Given the description of an element on the screen output the (x, y) to click on. 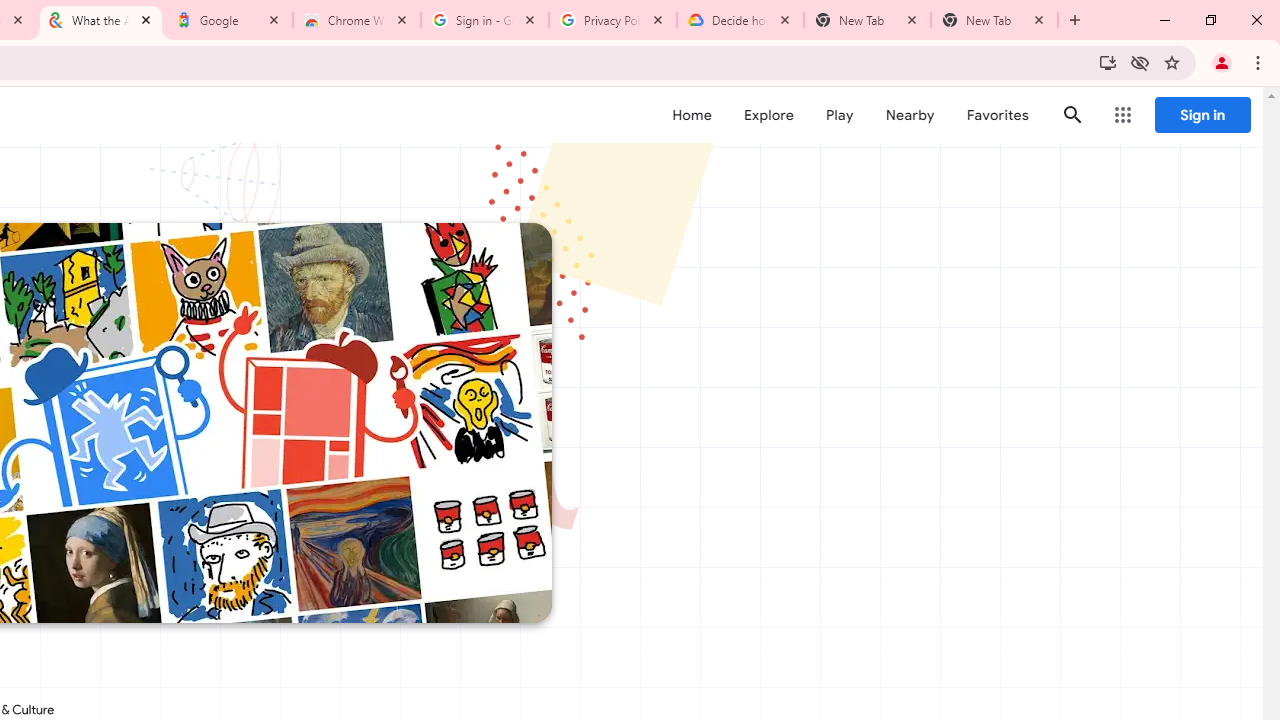
Install Google Arts & Culture (1107, 62)
Favorites (996, 115)
Play (840, 115)
New Tab (994, 20)
Chrome Web Store - Color themes by Chrome (357, 20)
Quit Game (1222, 126)
Nearby (910, 115)
Explore (768, 115)
